Given the description of an element on the screen output the (x, y) to click on. 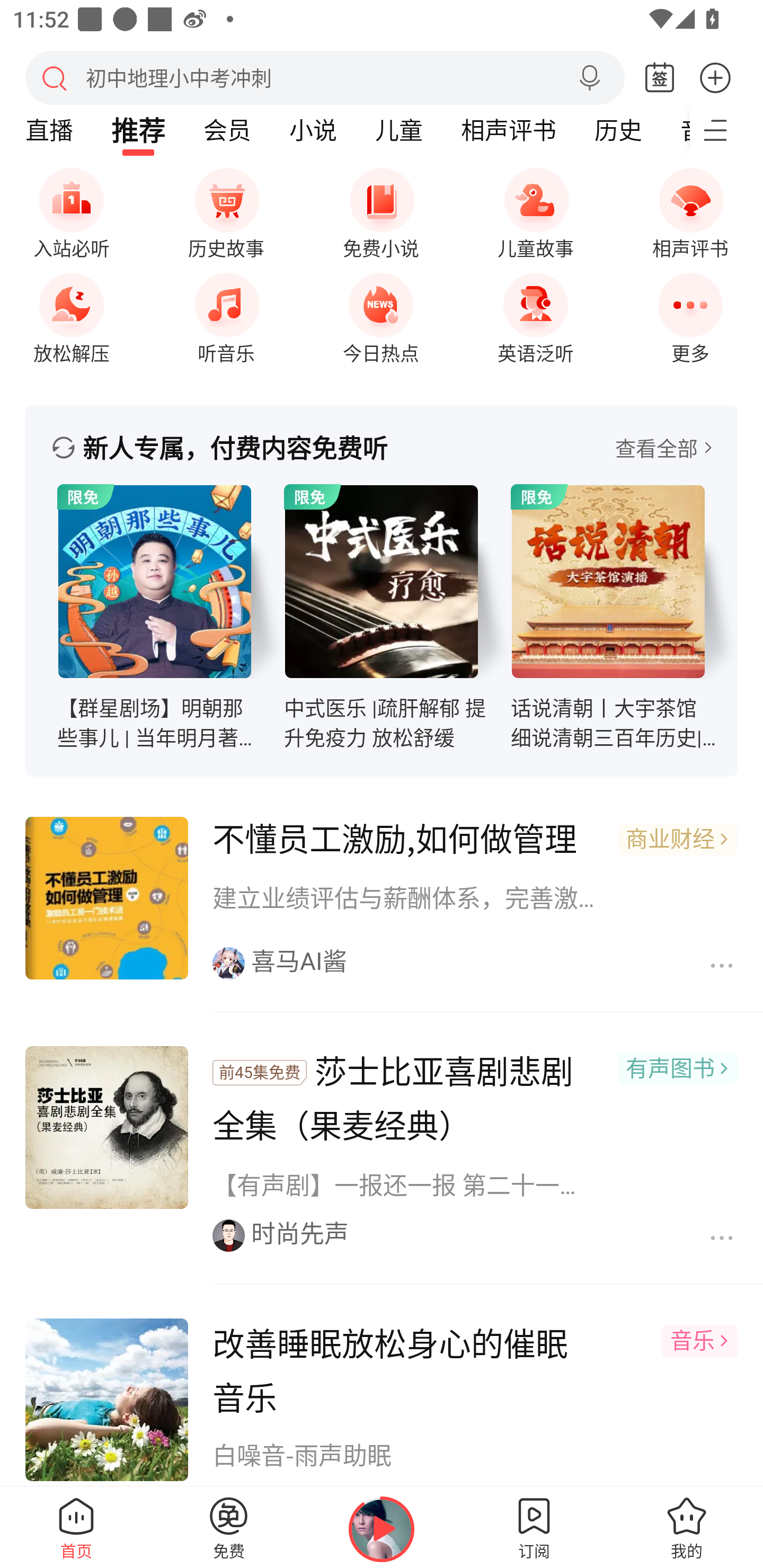
搜索 初中地理小中考冲刺 语音搜索 (324, 77)
更多 (714, 77)
签到 (659, 78)
语音搜索 (589, 78)
直播 (49, 130)
推荐 (138, 130)
会员 (227, 130)
小说 (313, 130)
儿童 (398, 130)
相声评书 (508, 130)
历史 (618, 130)
更多频道 (726, 130)
入站必听 (71, 209)
历史故事 (226, 209)
免费小说 (380, 209)
儿童故事 (535, 209)
相声评书 (689, 209)
放松解压 (71, 312)
听音乐 (226, 312)
今日热点 (380, 312)
英语泛听 (535, 312)
更多 (689, 312)
查看全部 (662, 448)
专辑图标 (154, 581)
专辑图标 (381, 581)
专辑图标 (607, 581)
不懂员工激励,如何做管理 商业财经    建立业绩评估与薪酬体系，完善激励机制 喜马AI酱 (381, 899)
改善睡眠放松身心的催眠音乐 音乐    白噪音-雨声助眠 十全之声 (381, 1388)
首页 (76, 1526)
免费 (228, 1526)
订阅 (533, 1526)
我的 (686, 1526)
继续播放Alpha-橘子海OrangeOcean (381, 1529)
